Given the description of an element on the screen output the (x, y) to click on. 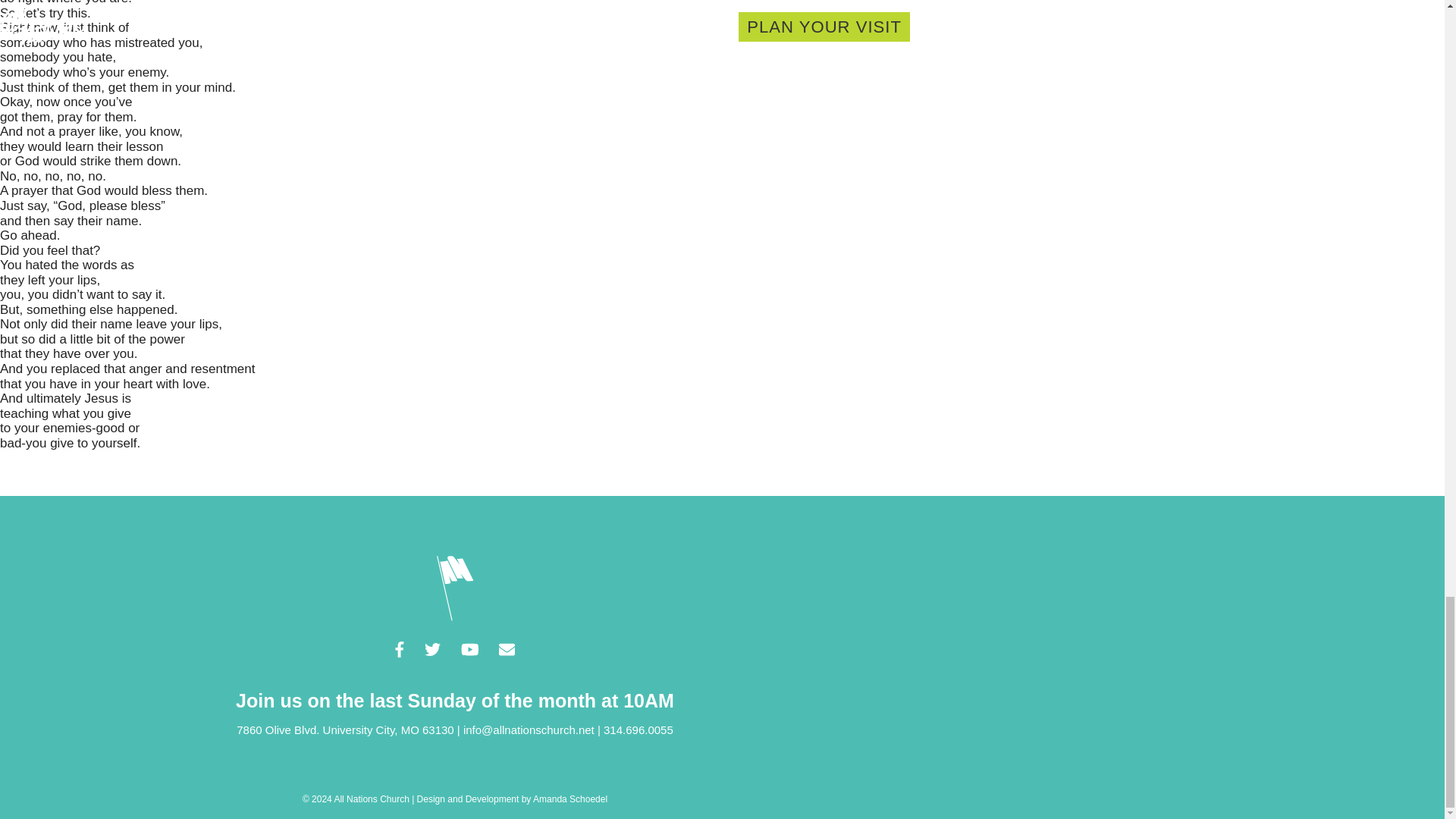
Amanda Schoedel (569, 798)
